Given the description of an element on the screen output the (x, y) to click on. 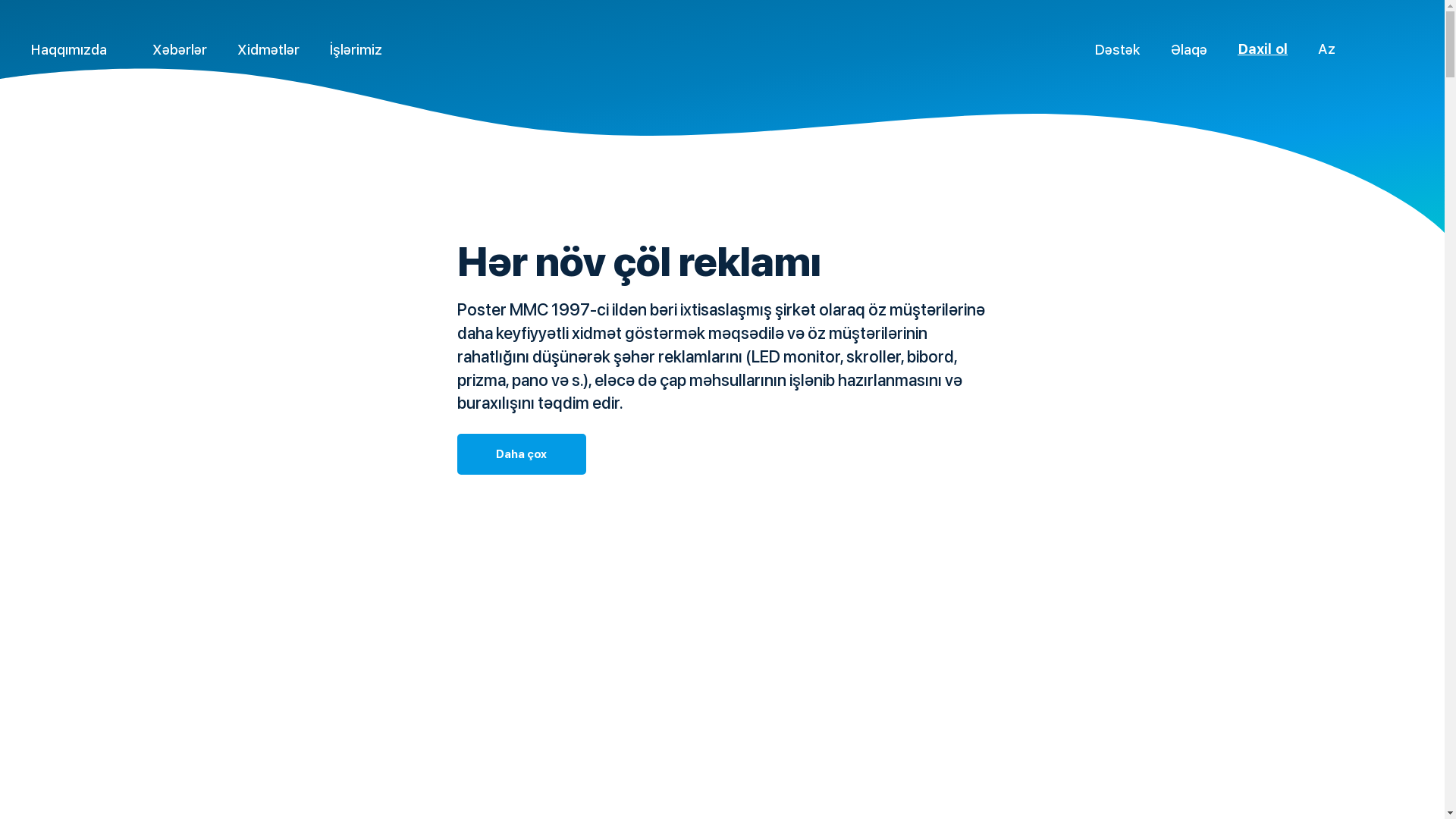
Daxil ol Element type: text (1262, 48)
